Given the description of an element on the screen output the (x, y) to click on. 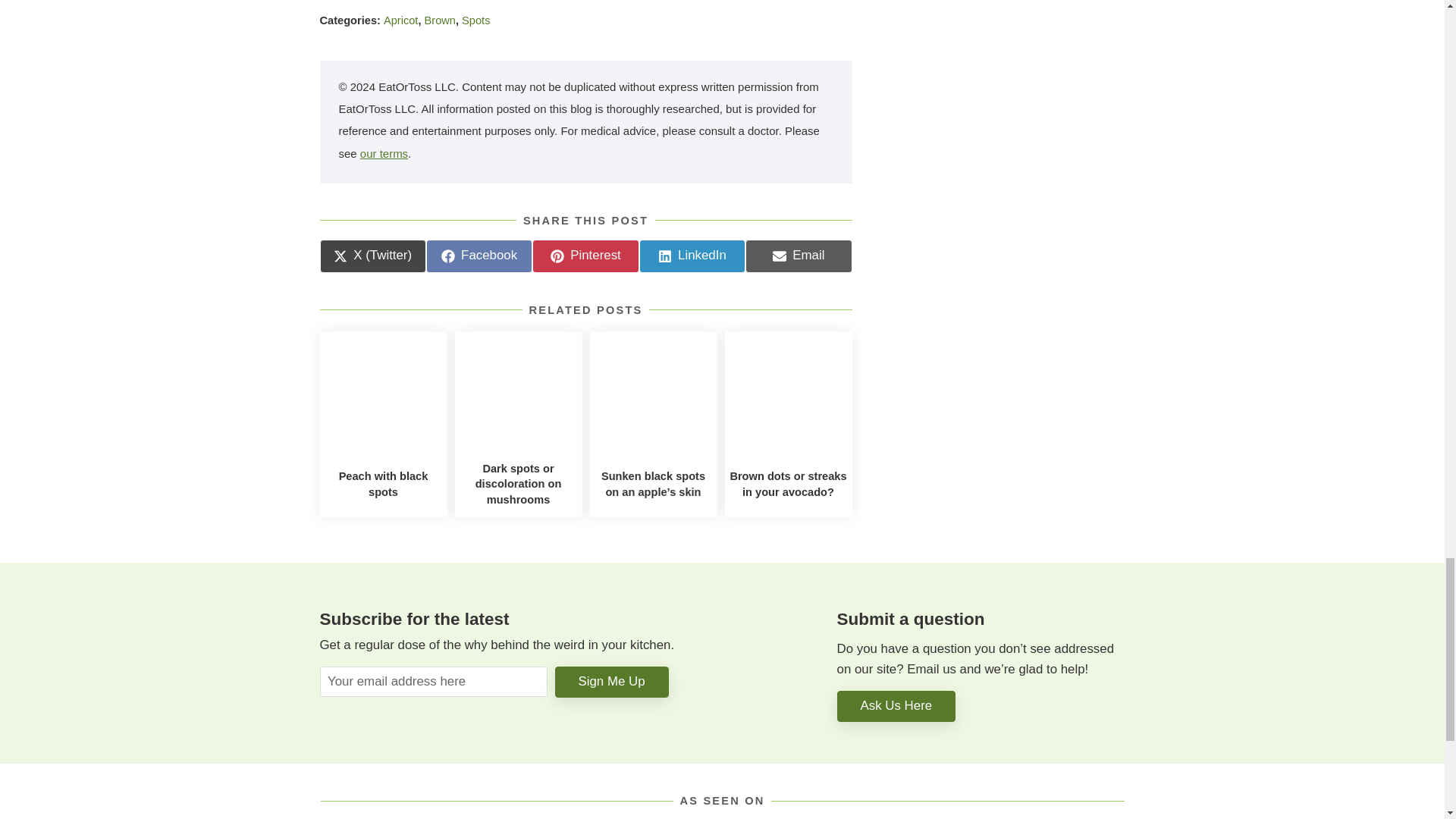
our terms (479, 255)
Brown dots or streaks in your avocado? (383, 153)
Apricot (787, 483)
Dark spots or discoloration on mushrooms (400, 20)
Peach with black spots (798, 255)
Spots (518, 483)
